Given the description of an element on the screen output the (x, y) to click on. 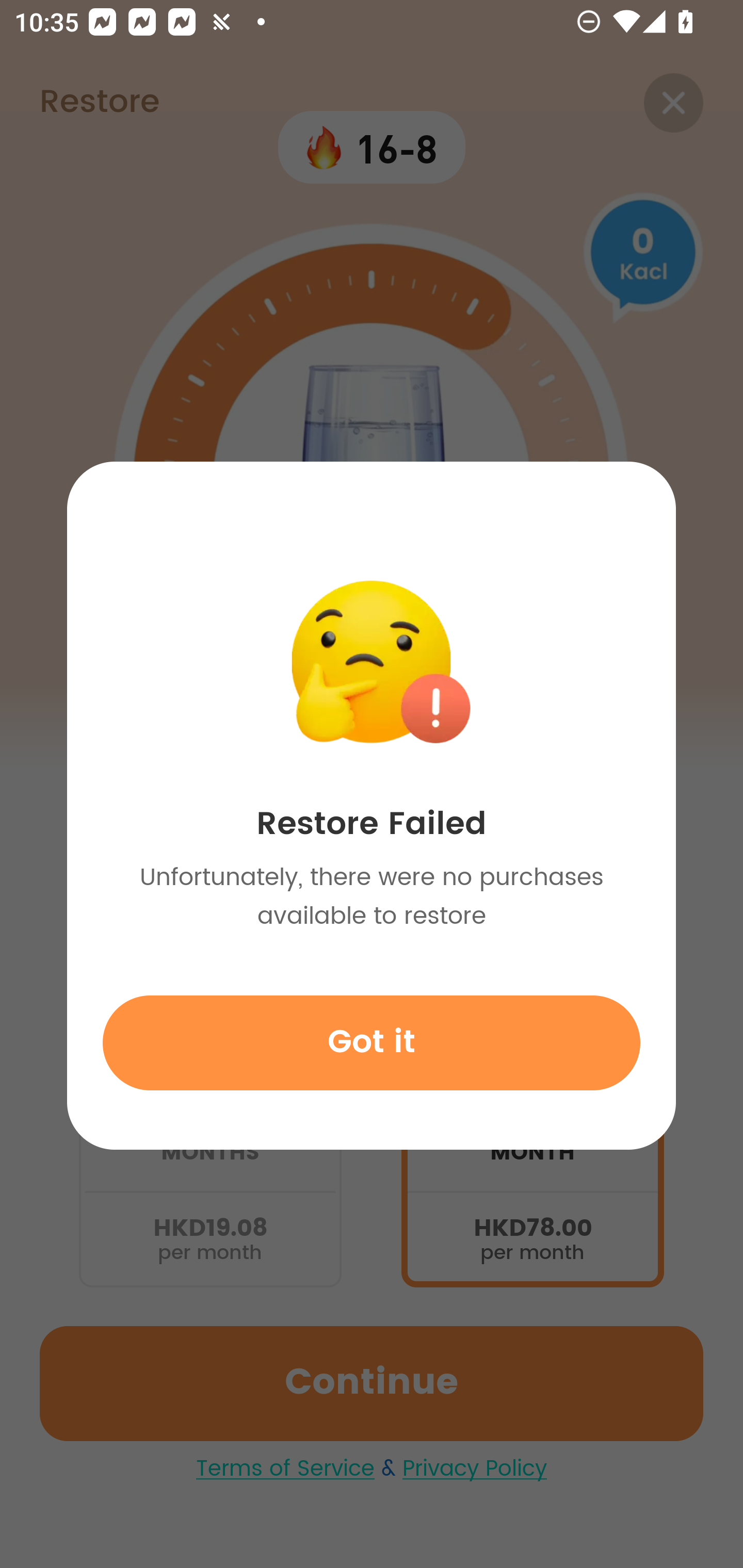
Got it (371, 1042)
